Given the description of an element on the screen output the (x, y) to click on. 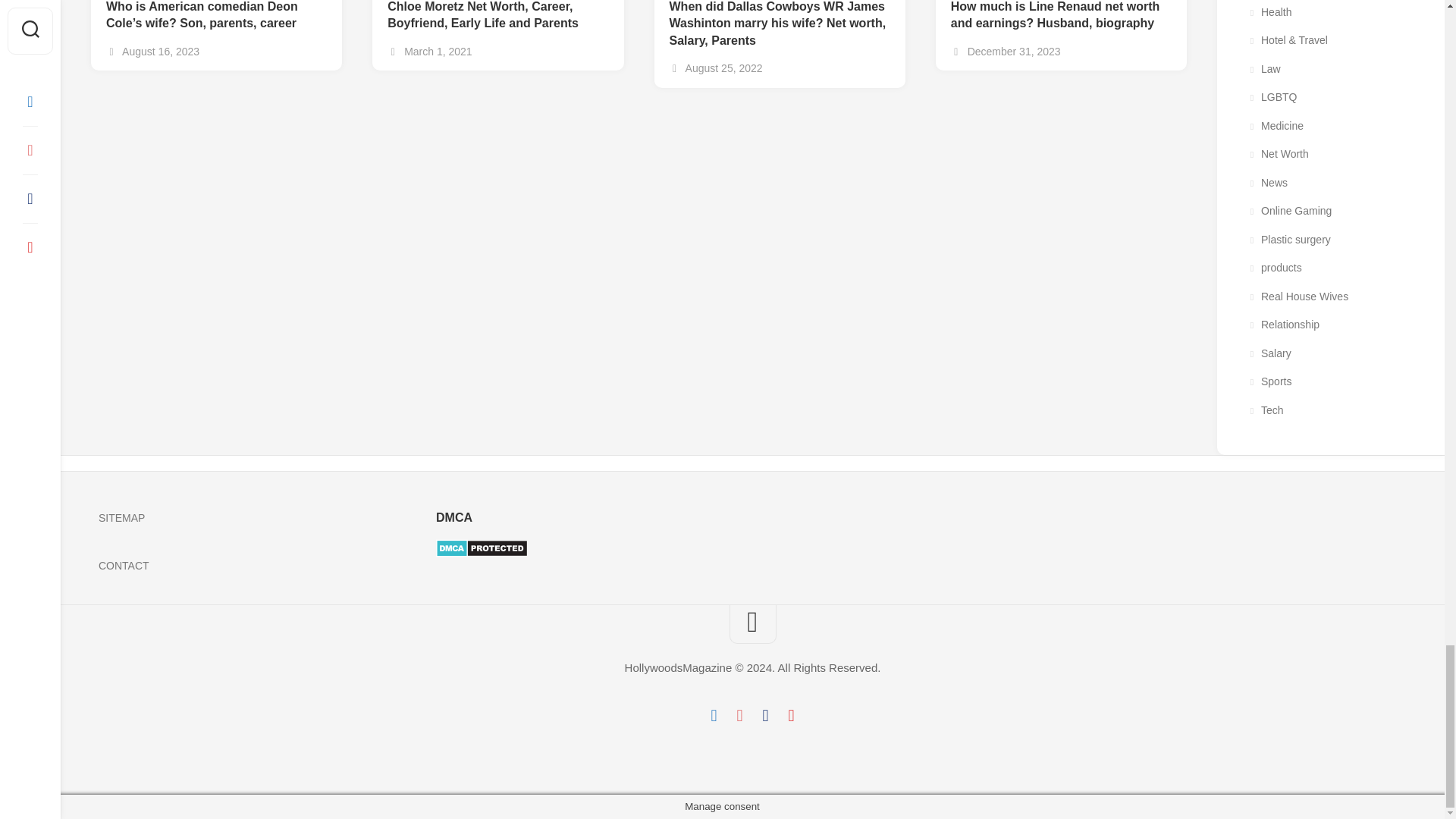
Facebook (713, 715)
DMCA.com Protection Status (481, 553)
Pinterest (791, 715)
Reddit (739, 715)
Tumblr (765, 715)
